Given the description of an element on the screen output the (x, y) to click on. 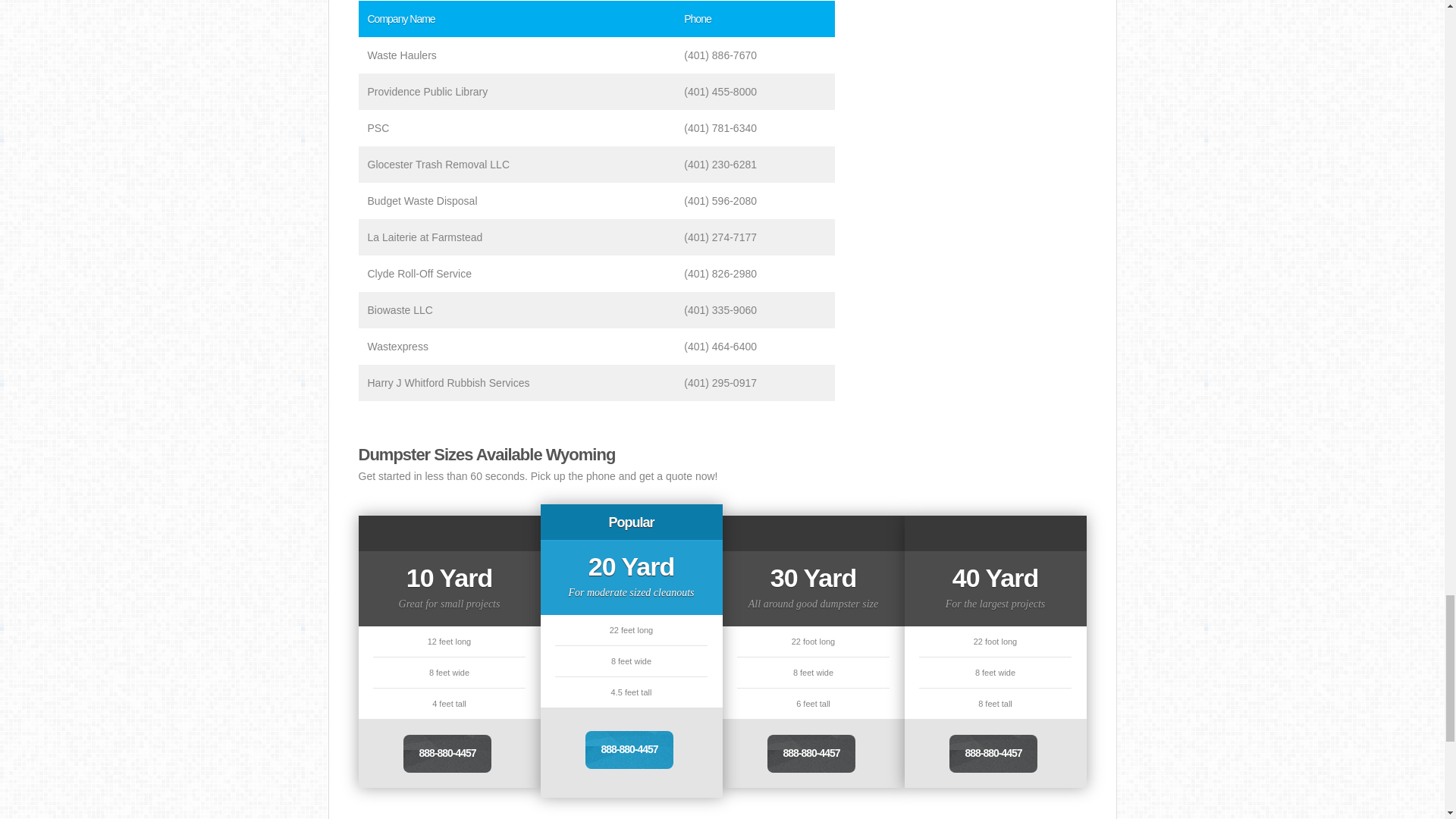
888-880-4457 (446, 753)
888-880-4457 (992, 753)
888-880-4457 (810, 753)
888-880-4457 (628, 750)
